Given the description of an element on the screen output the (x, y) to click on. 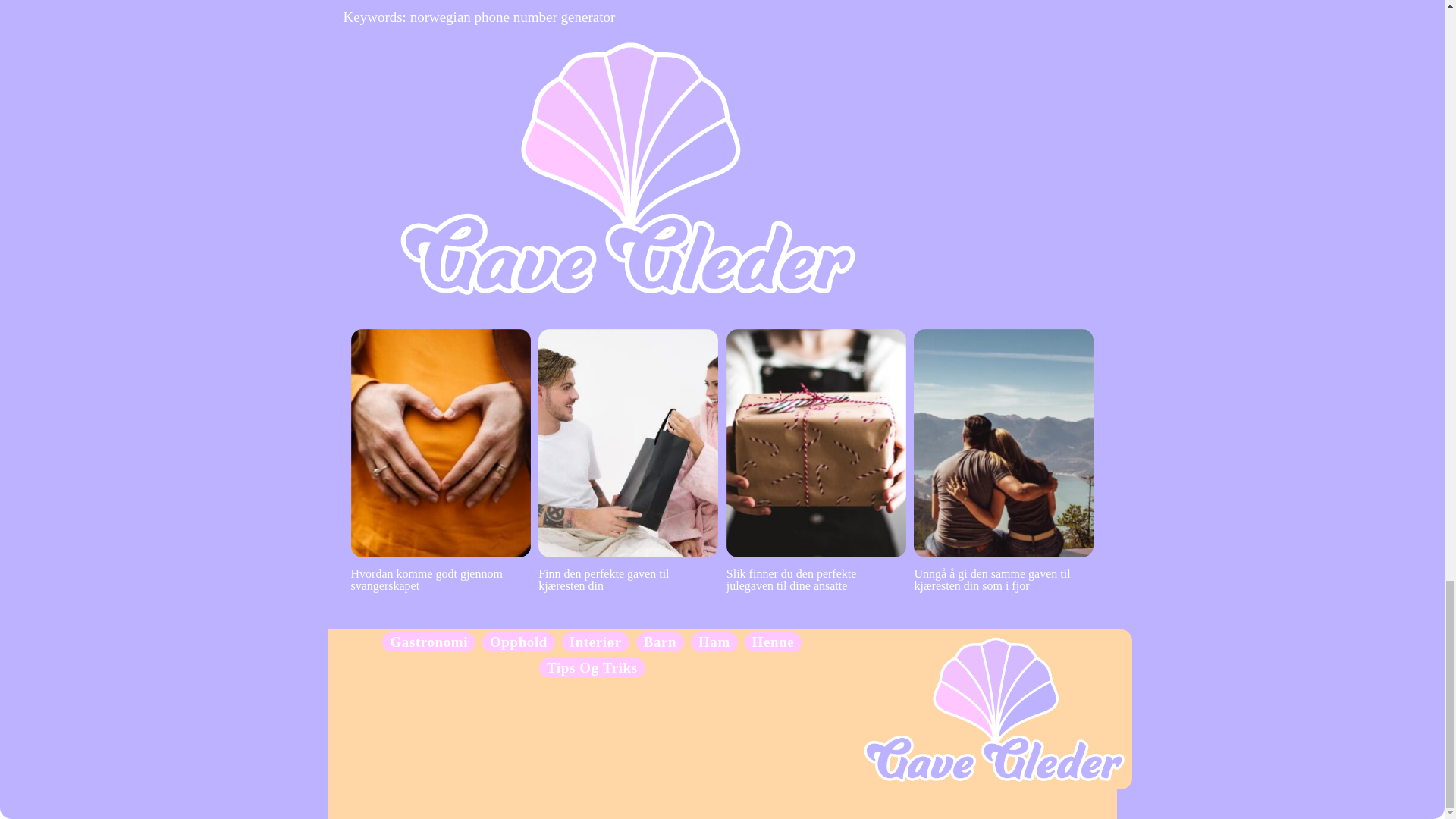
Opphold (518, 641)
Hvordan komme godt gjennom svangerskapet (439, 460)
Tips Og Triks (592, 667)
Gastronomi (428, 641)
Slik finner du den perfekte julegaven til dine ansatte (815, 460)
Barn (660, 641)
Henne (773, 641)
Ham (714, 641)
